Given the description of an element on the screen output the (x, y) to click on. 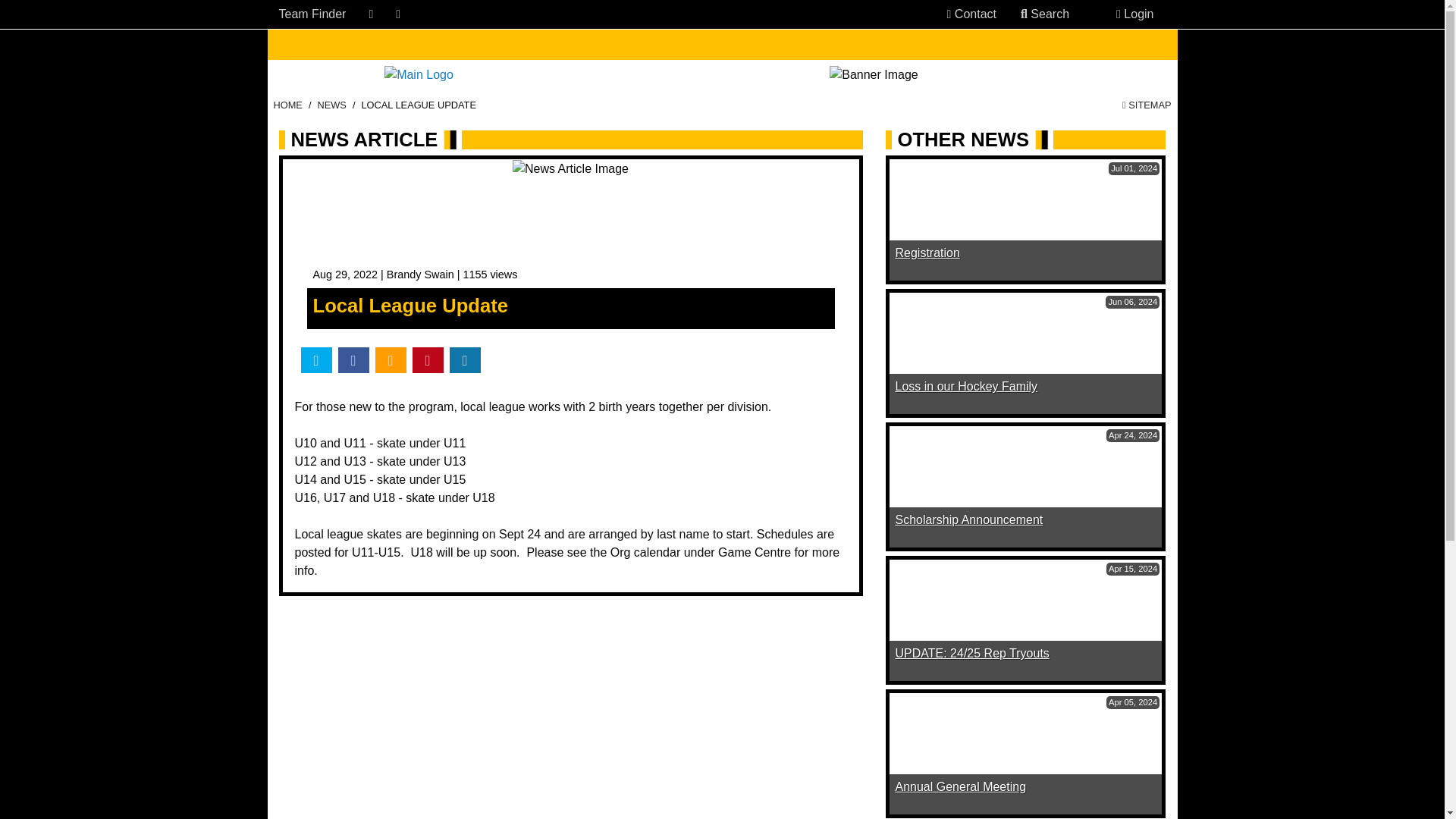
Team Finder (312, 13)
Facebook (370, 14)
 Contact (971, 14)
 Search (1045, 14)
Search (1023, 14)
Twitter (398, 14)
 Login (1134, 14)
Contacts (949, 14)
